Given the description of an element on the screen output the (x, y) to click on. 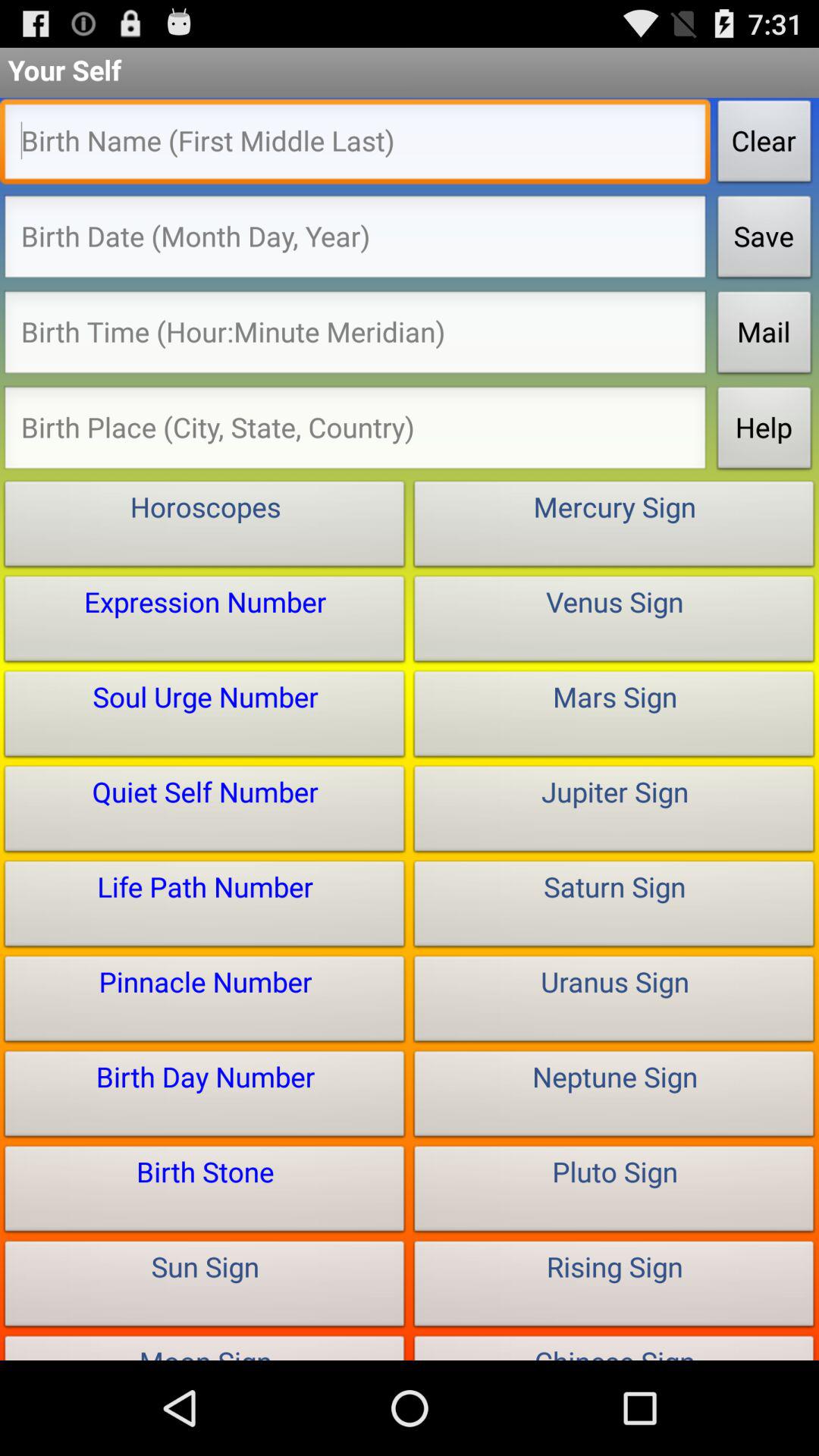
your time of birth (355, 336)
